Given the description of an element on the screen output the (x, y) to click on. 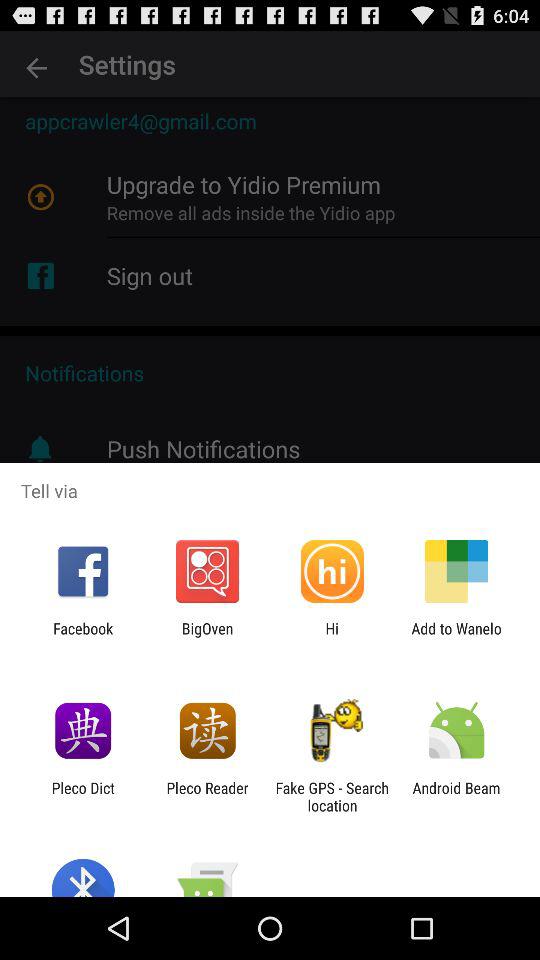
open the fake gps search app (332, 796)
